Given the description of an element on the screen output the (x, y) to click on. 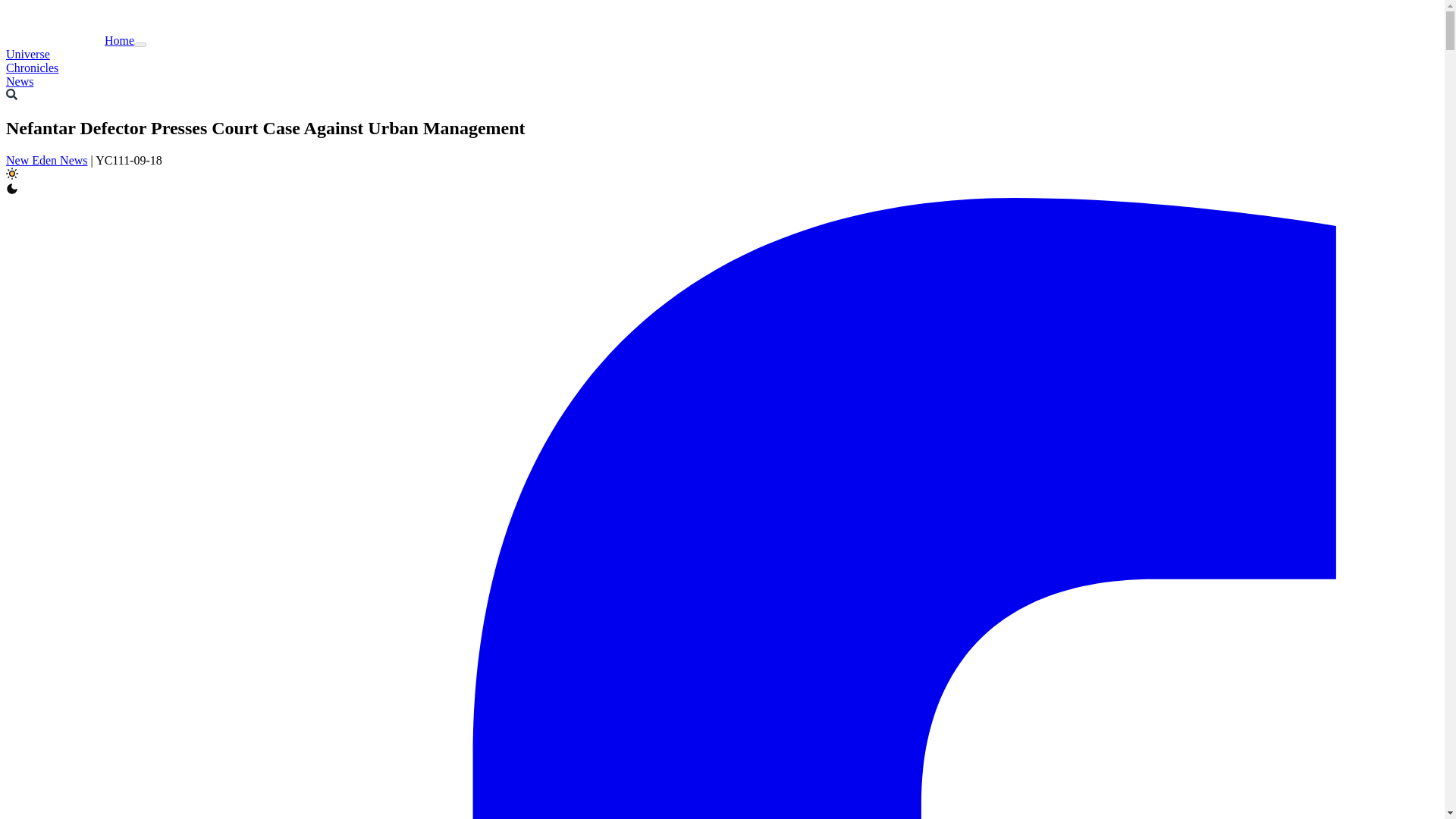
Home (69, 40)
Universe (27, 53)
News (19, 81)
Chronicles (31, 67)
New Eden News (46, 160)
